Given the description of an element on the screen output the (x, y) to click on. 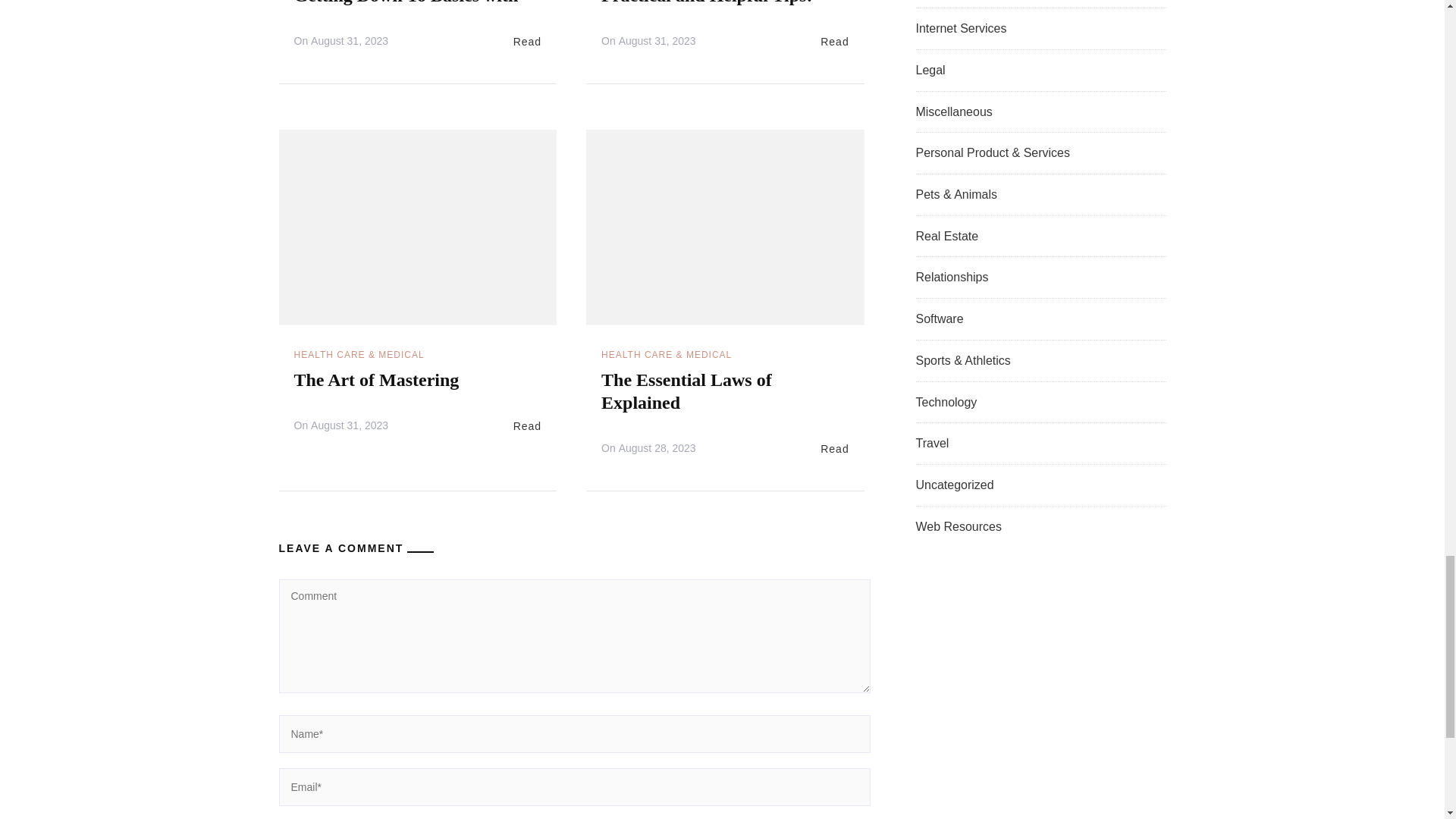
August 28, 2023 (656, 448)
August 31, 2023 (656, 41)
The Essential Laws of Explained (686, 391)
The Art of Mastering (377, 379)
August 31, 2023 (349, 425)
Read (527, 426)
Read (834, 449)
Read (834, 42)
Getting Down To Basics with (406, 2)
Read (527, 42)
